Given the description of an element on the screen output the (x, y) to click on. 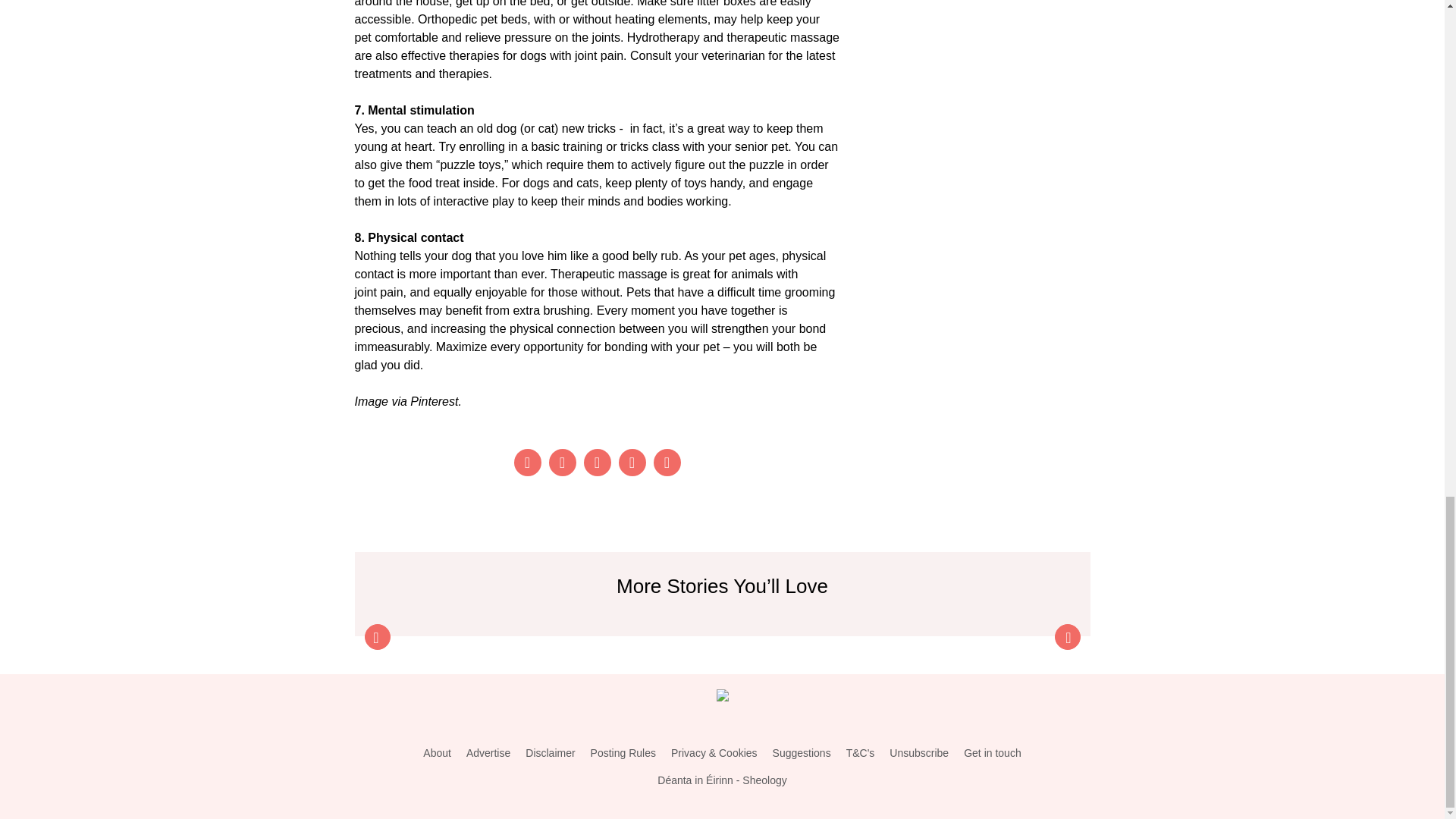
Unsubscribe (919, 753)
Disclaimer (550, 753)
Suggestions (801, 753)
Get in touch (992, 753)
Email (667, 461)
Posting Rules (623, 753)
Advertise (488, 753)
Sheology (764, 779)
About (436, 753)
